Given the description of an element on the screen output the (x, y) to click on. 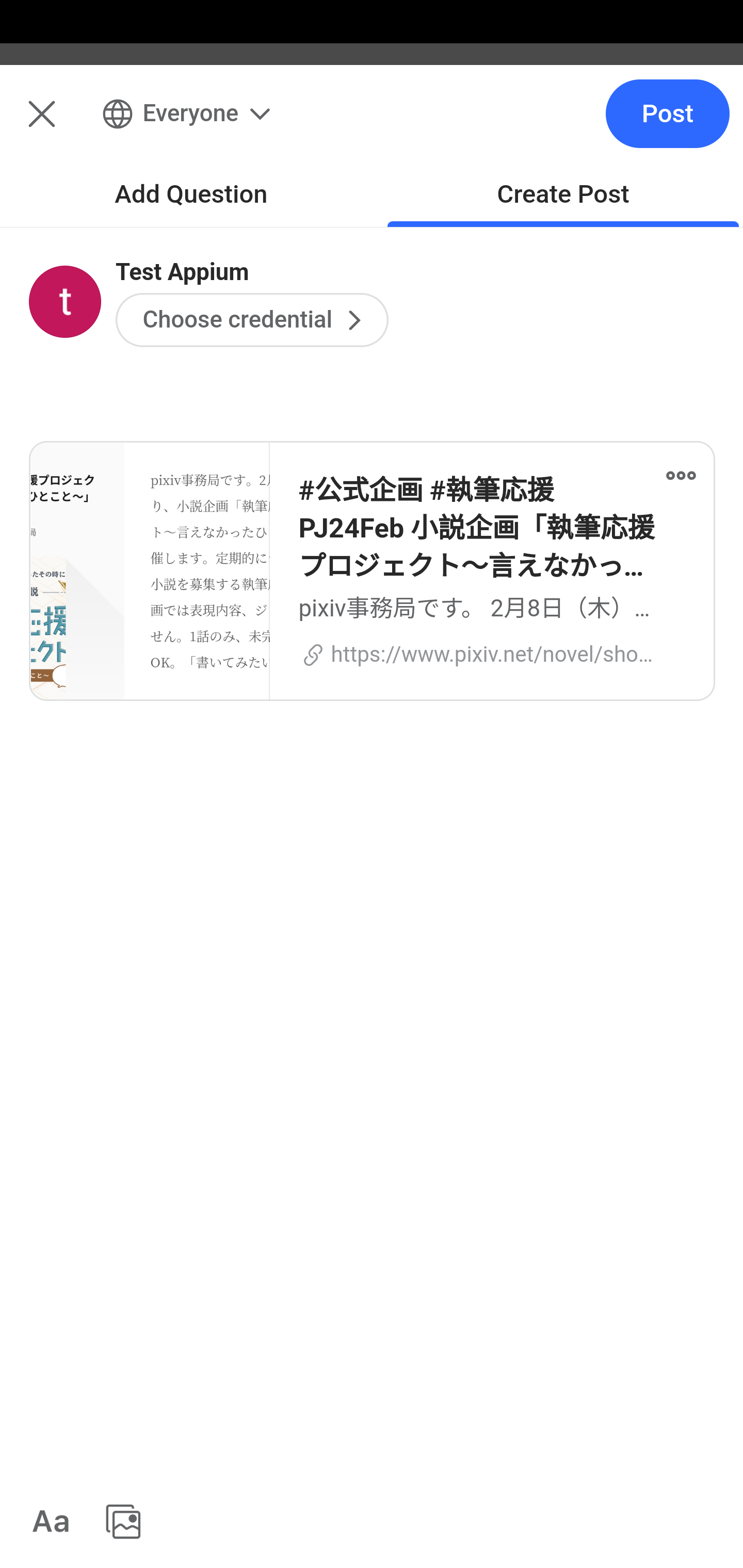
Me Home Search Add (371, 125)
Me (64, 125)
